Given the description of an element on the screen output the (x, y) to click on. 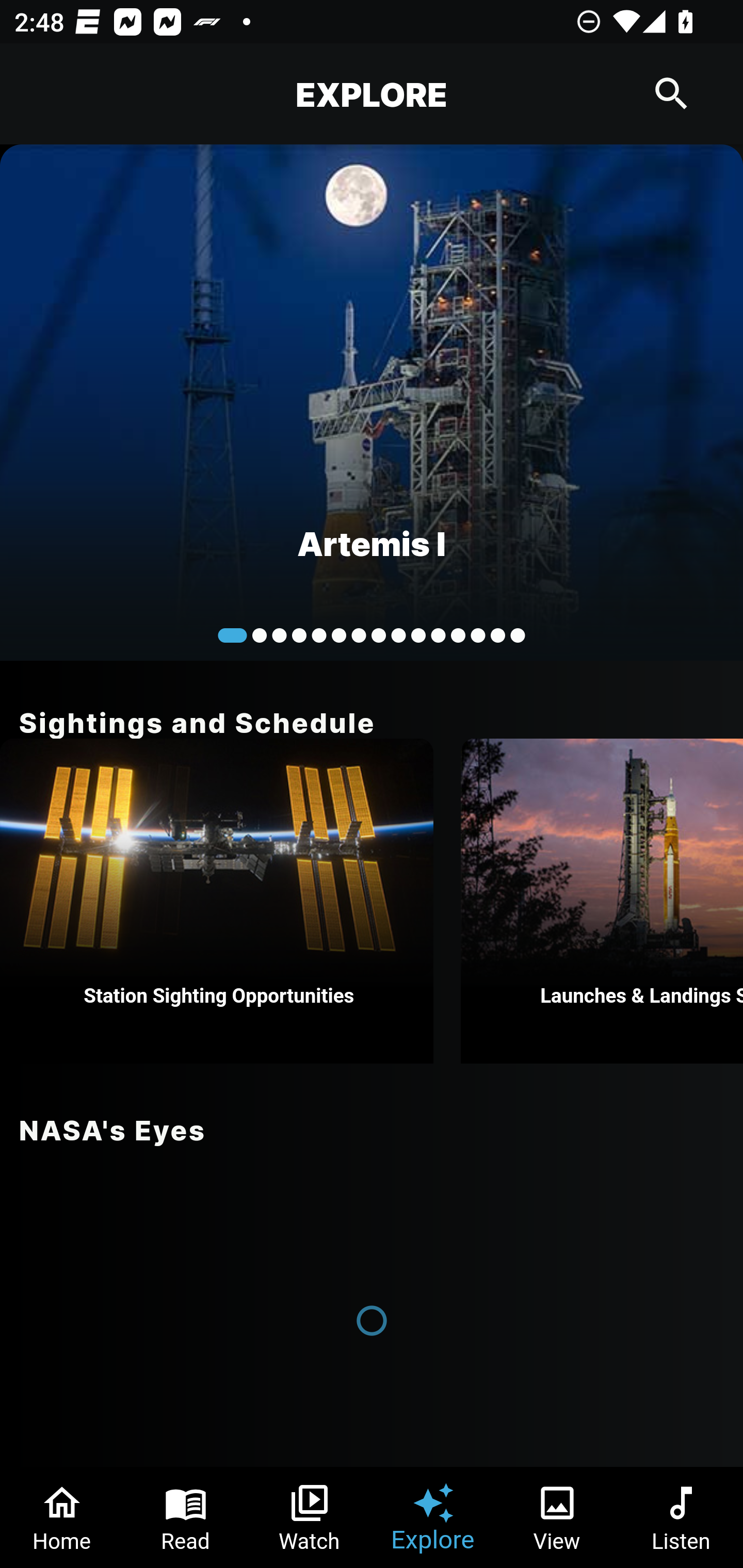
Artemis I
Hello World (371, 402)
Station Sighting Opportunities (216, 900)
Launches & Landings Schedule (601, 900)
Home
Tab 1 of 6 (62, 1517)
Read
Tab 2 of 6 (185, 1517)
Watch
Tab 3 of 6 (309, 1517)
Explore
Tab 4 of 6 (433, 1517)
View
Tab 5 of 6 (556, 1517)
Listen
Tab 6 of 6 (680, 1517)
